Given the description of an element on the screen output the (x, y) to click on. 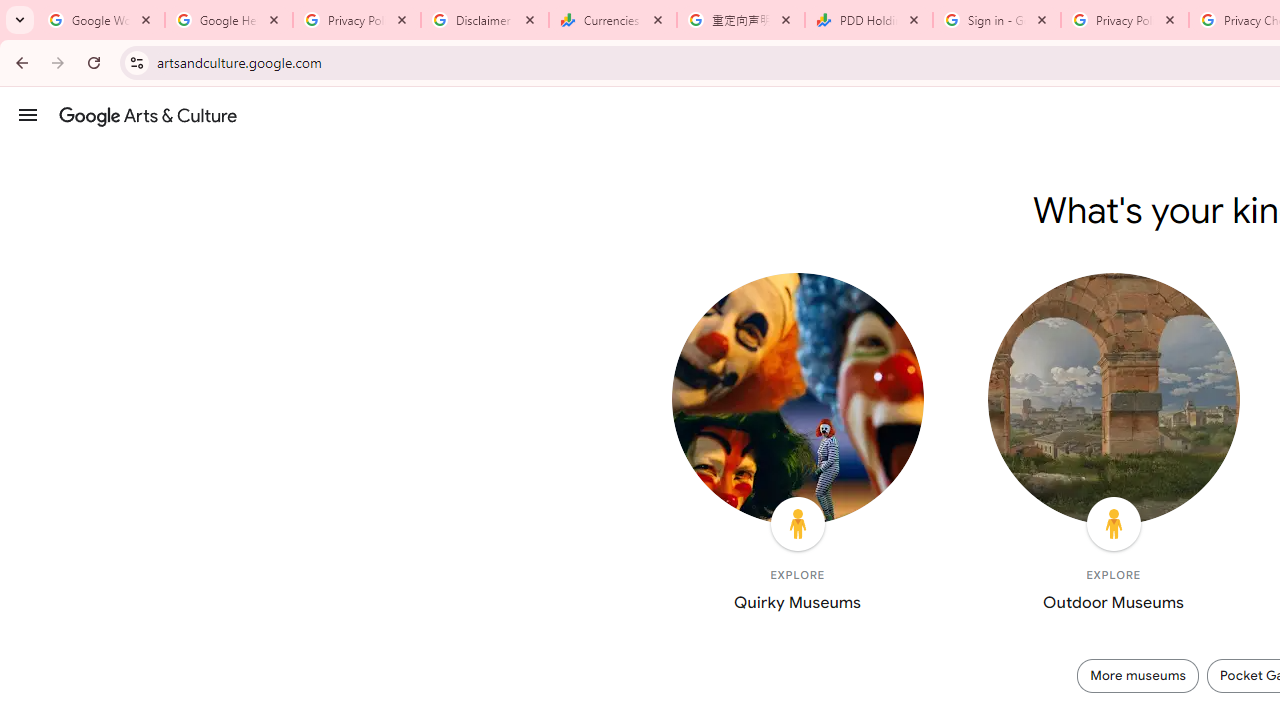
PDD Holdings Inc - ADR (PDD) Price & News - Google Finance (869, 20)
EXPLORE Outdoor Museums (1113, 447)
Google Arts & Culture (148, 115)
Google Workspace Admin Community (101, 20)
Menu (27, 114)
